Given the description of an element on the screen output the (x, y) to click on. 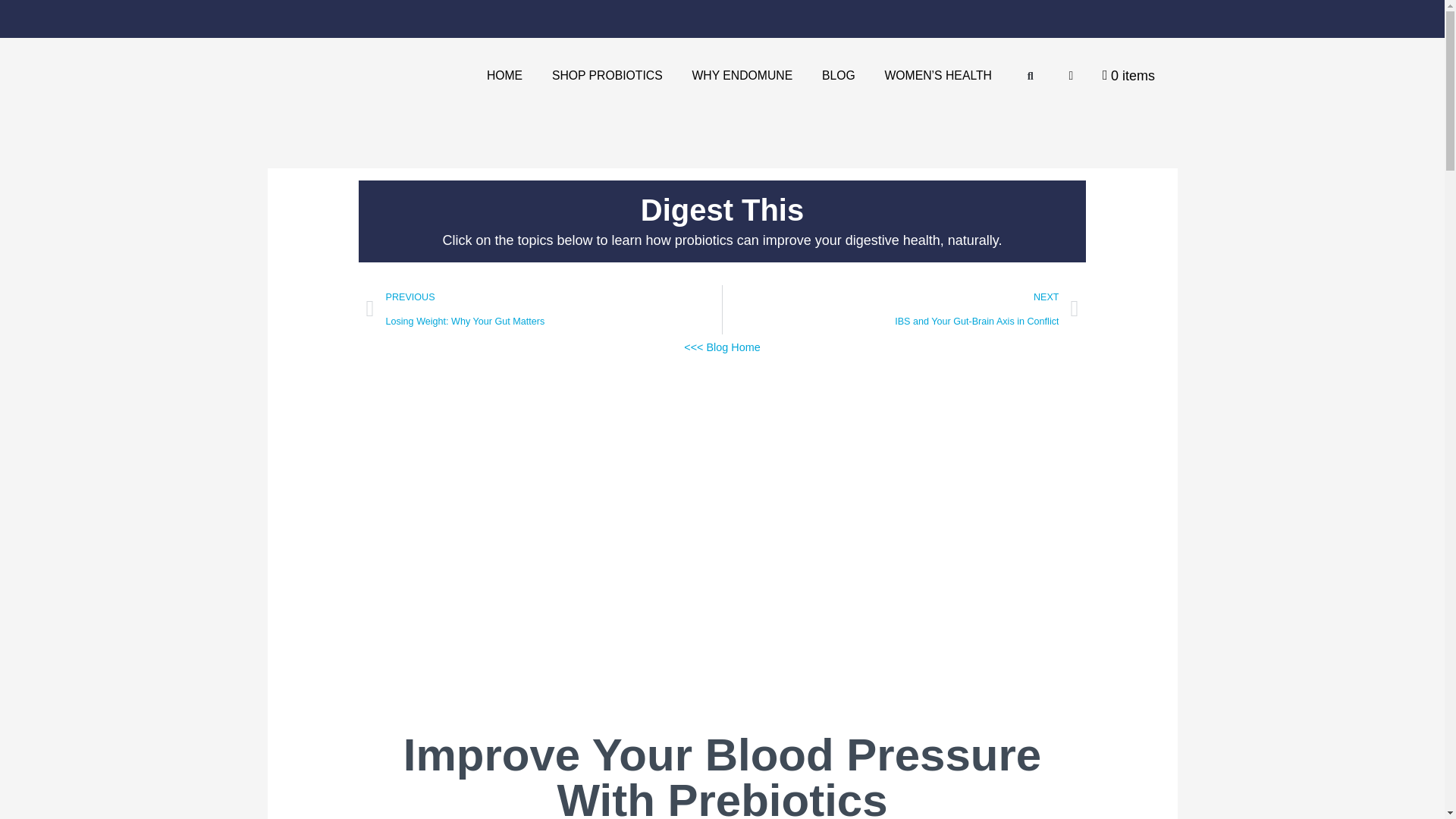
HOME (504, 75)
SHOP PROBIOTICS (606, 75)
WHY ENDOMUNE (741, 75)
0 items (1128, 75)
BLOG (839, 75)
Start shopping (1128, 75)
